Given the description of an element on the screen output the (x, y) to click on. 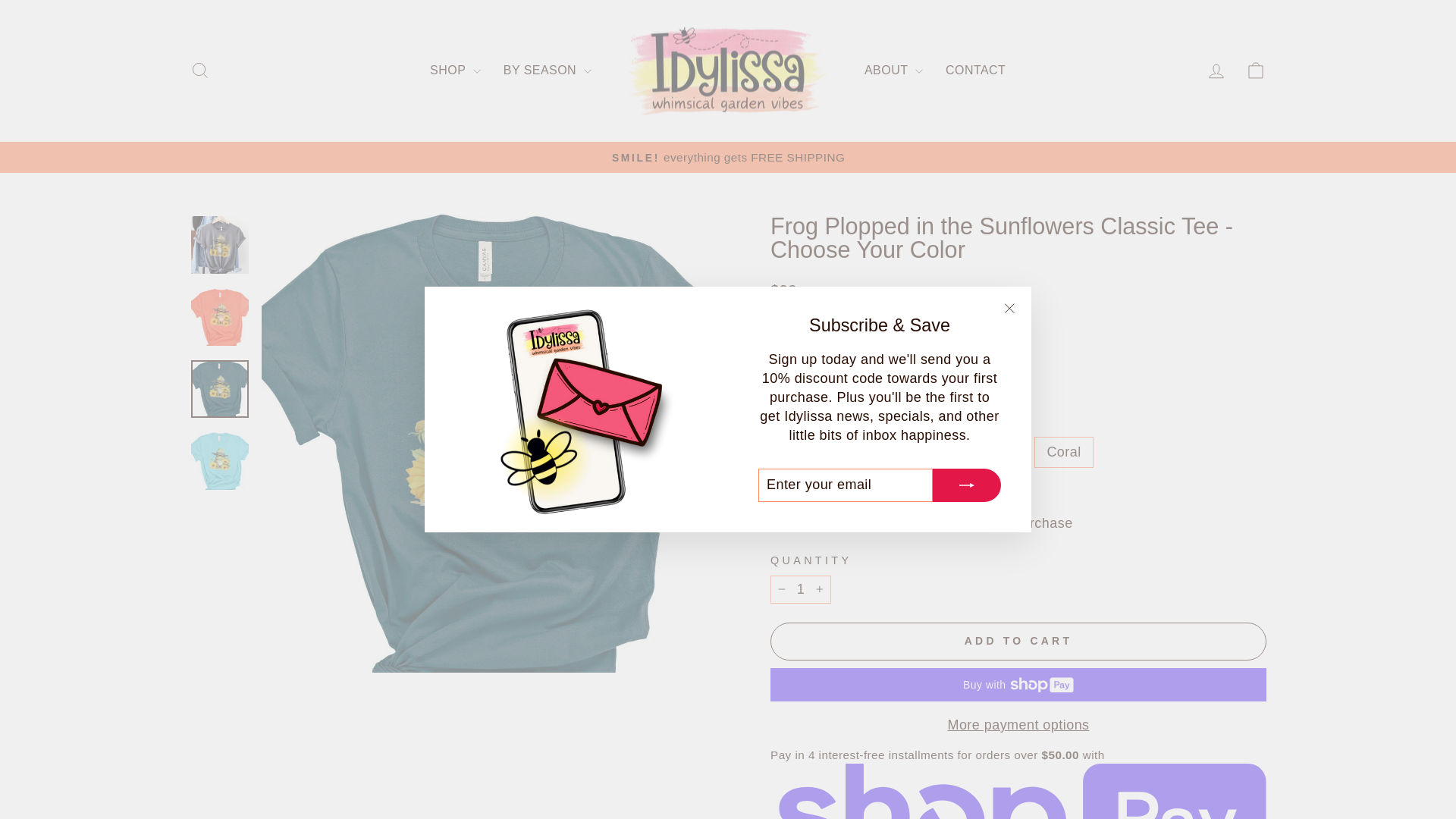
icon-search (200, 70)
account (1216, 70)
1 (800, 589)
icon-X (1009, 308)
icon-bag-minimal (1255, 70)
